Given the description of an element on the screen output the (x, y) to click on. 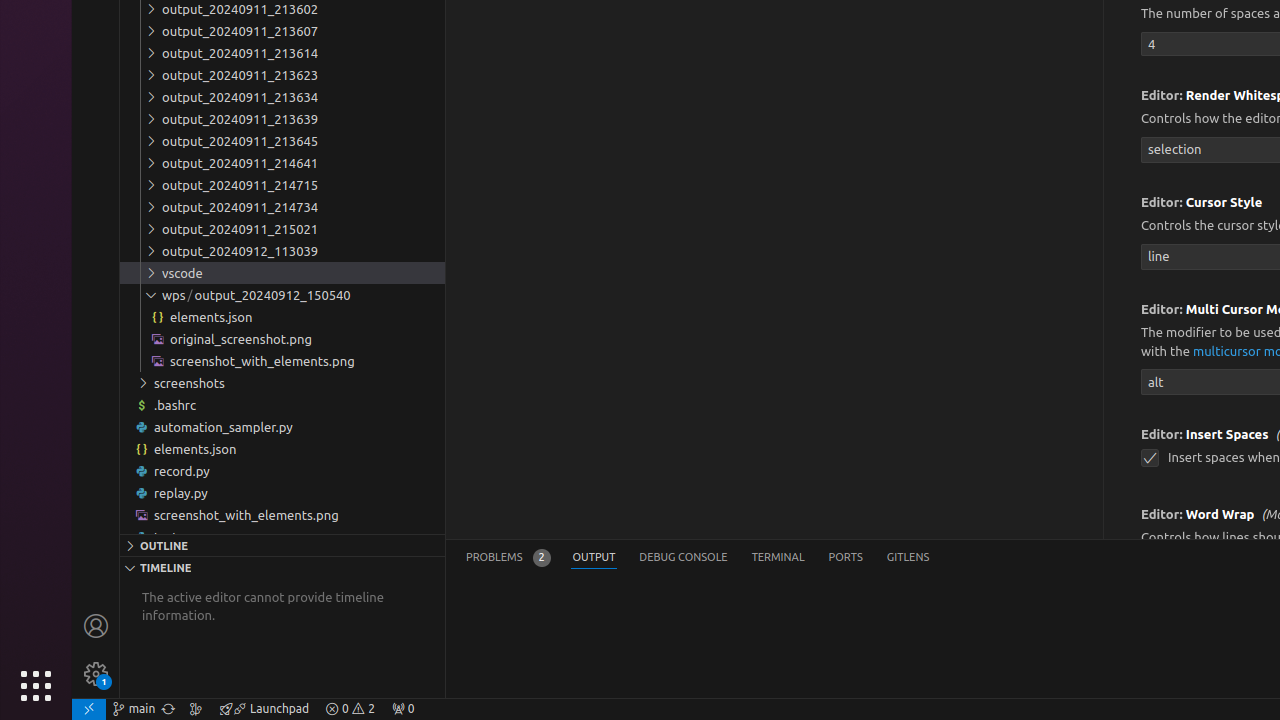
OSWorld (Git) - Synchronize Changes Element type: push-button (168, 709)
GitLens Element type: page-tab (908, 557)
remote Element type: push-button (89, 709)
output_20240911_214734 Element type: tree-item (282, 206)
Ports Element type: page-tab (845, 557)
